Given the description of an element on the screen output the (x, y) to click on. 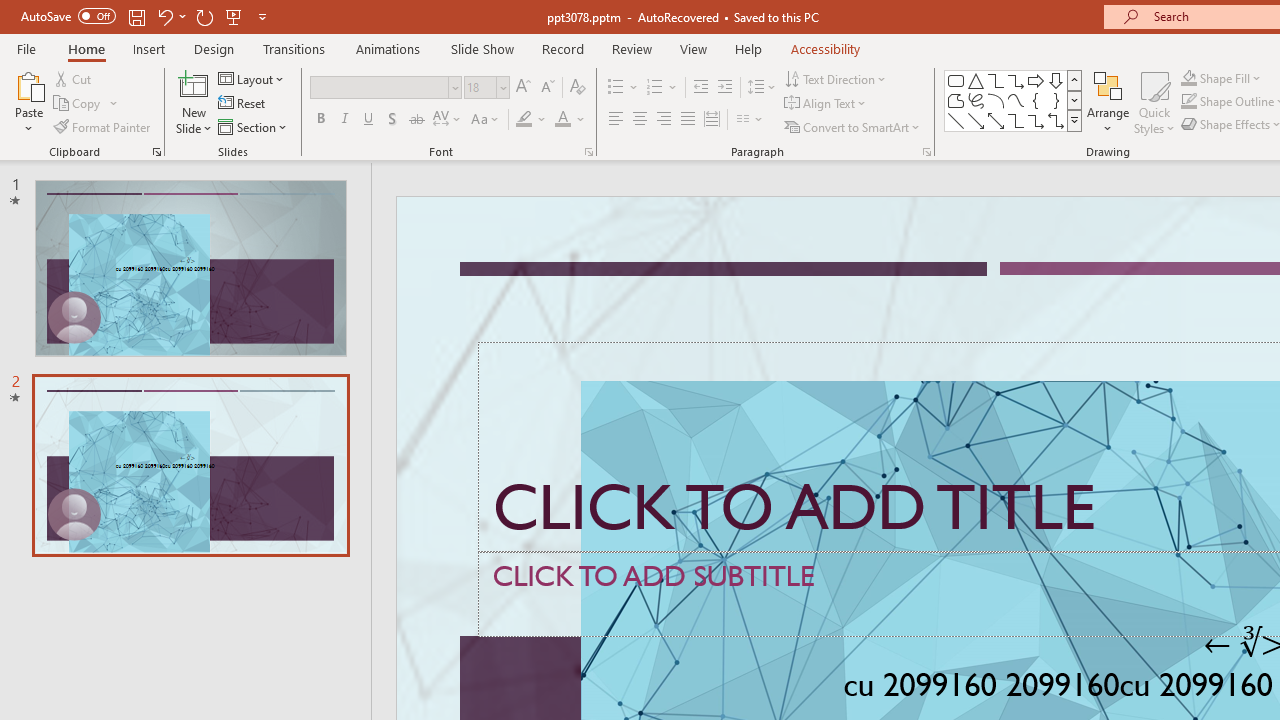
Shape Outline Green, Accent 1 (1188, 101)
